Given the description of an element on the screen output the (x, y) to click on. 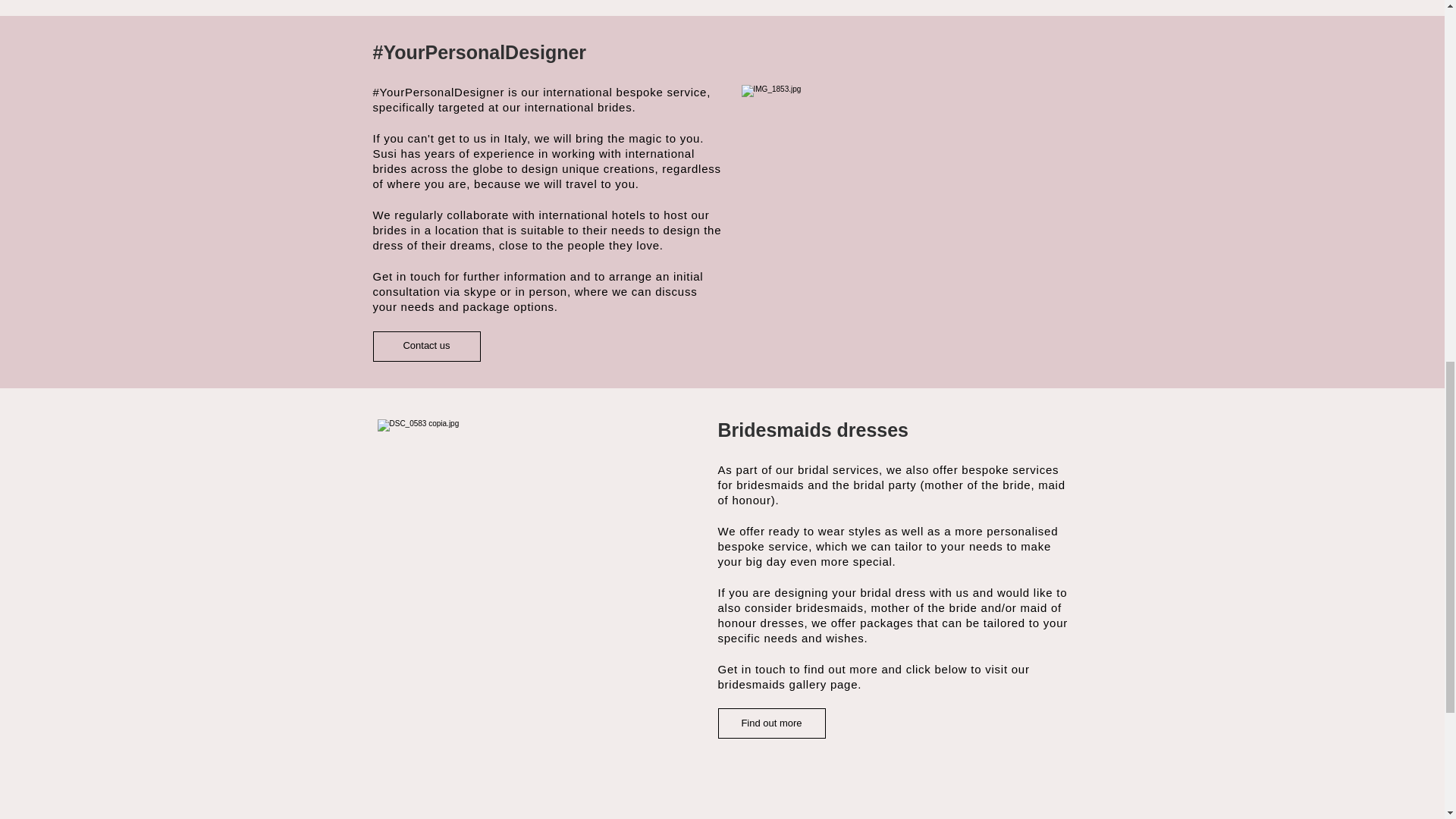
Contact us (426, 345)
Find out more (771, 723)
